Given the description of an element on the screen output the (x, y) to click on. 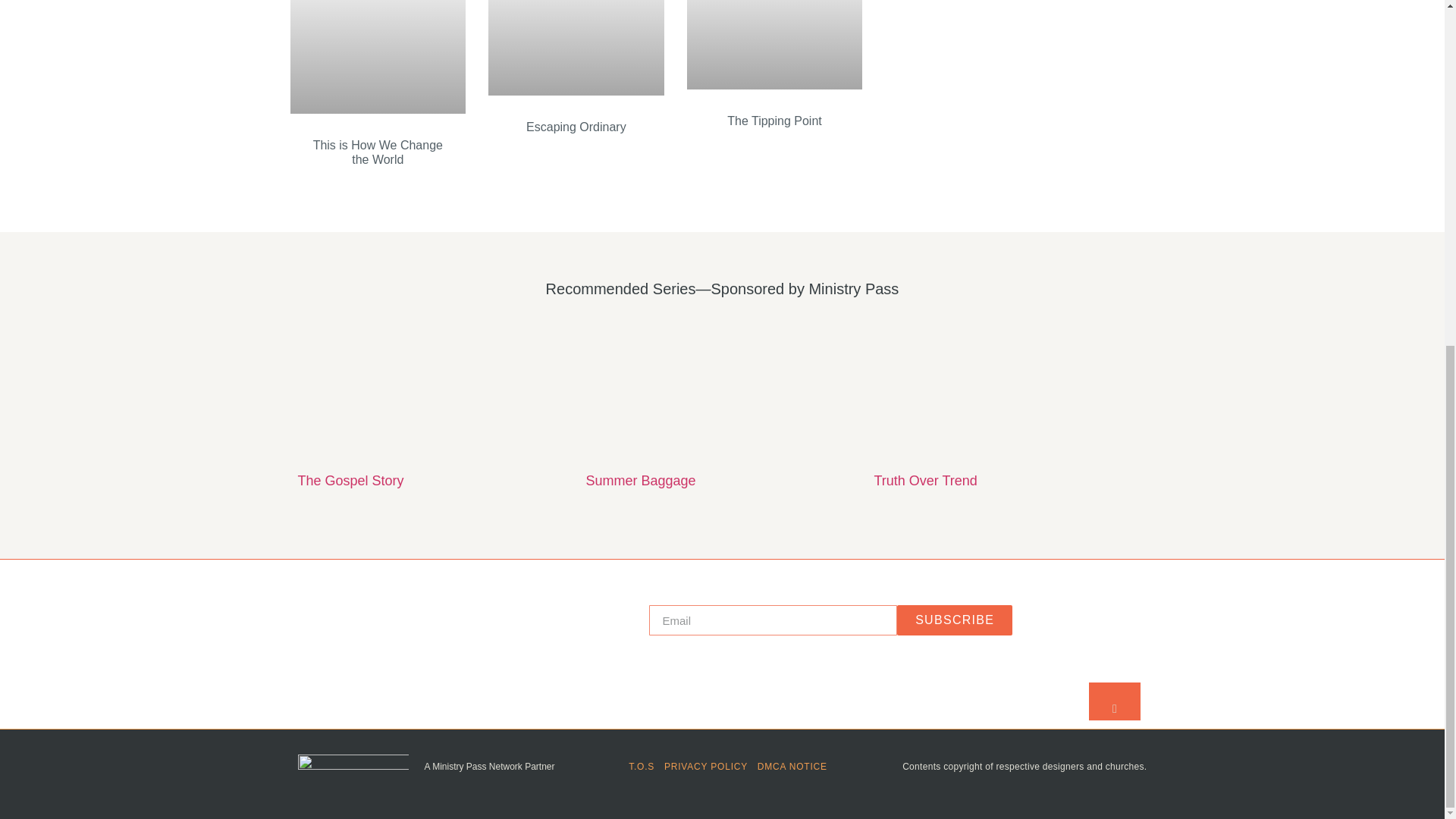
Truth Over Trend (924, 480)
The Gospel Story (350, 480)
This is How We Change the World (377, 152)
Truth Over Trend (1010, 395)
The Gospel Story (350, 480)
Escaping Ordinary (575, 126)
Page 1 (721, 288)
The Tipping Point (774, 120)
Summer Baggage (640, 480)
Page 1 (453, 614)
